Given the description of an element on the screen output the (x, y) to click on. 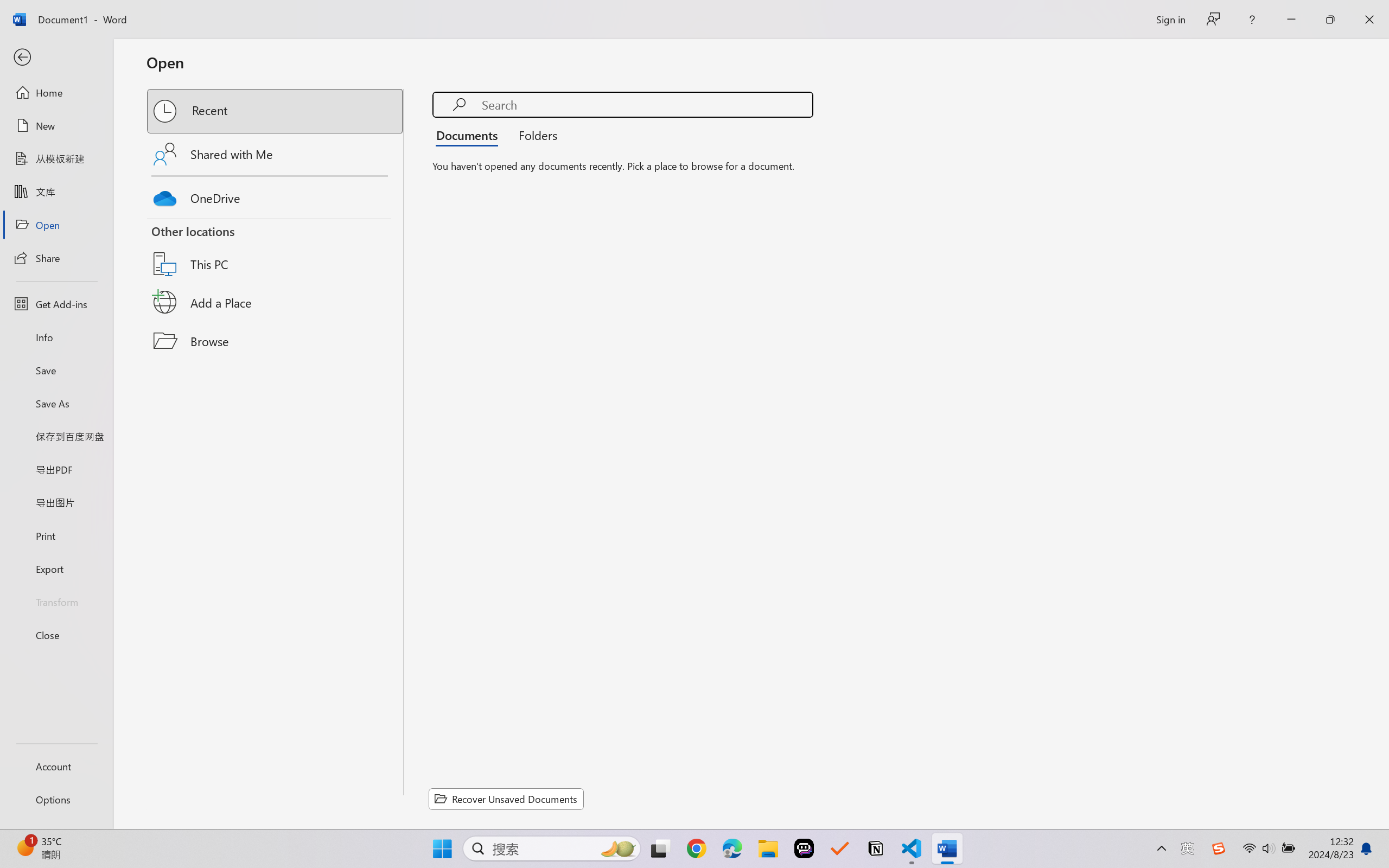
Save As (56, 403)
Export (56, 568)
Print (56, 535)
Get Add-ins (56, 303)
Recent (275, 110)
Options (56, 798)
New (56, 125)
